Given the description of an element on the screen output the (x, y) to click on. 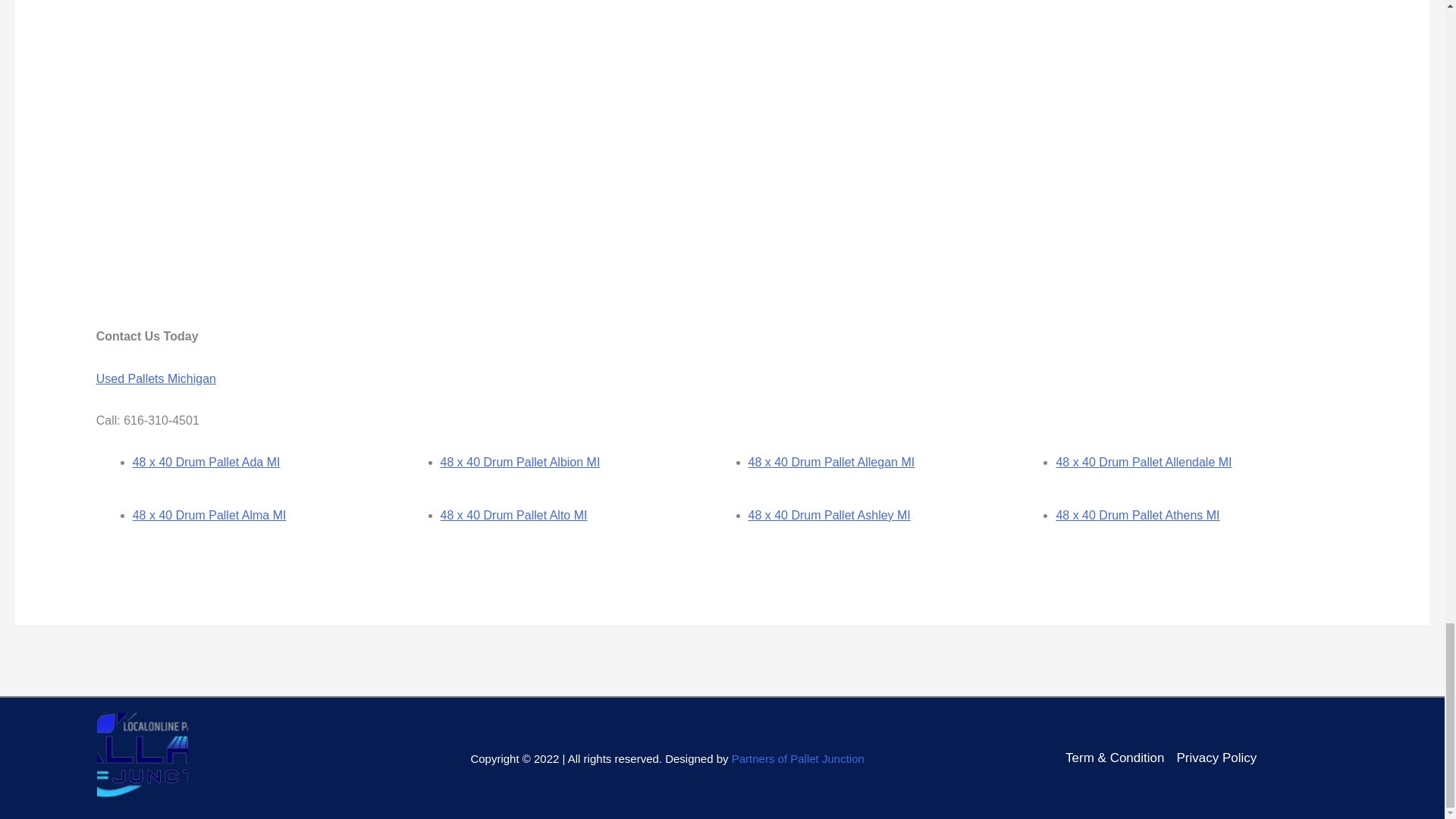
48 x 40 Drum Pallet Allegan MI (831, 461)
48 x 40 Drum Pallet Allendale MI (1143, 461)
48 x 40 Drum Pallet Ashley MI (829, 514)
48 x 40 Drum Pallet Ada MI (206, 461)
48 x 40 Drum Pallet Alma MI (209, 514)
48 x 40 Drum Pallet Allendale MI (1143, 461)
48 x 40 Drum Pallet Alto MI (514, 514)
48 x 40 Drum Pallet Allegan MI (831, 461)
48 x 40 Drum Pallet Albion MI (520, 461)
Used Pallets Michigan (155, 377)
